Given the description of an element on the screen output the (x, y) to click on. 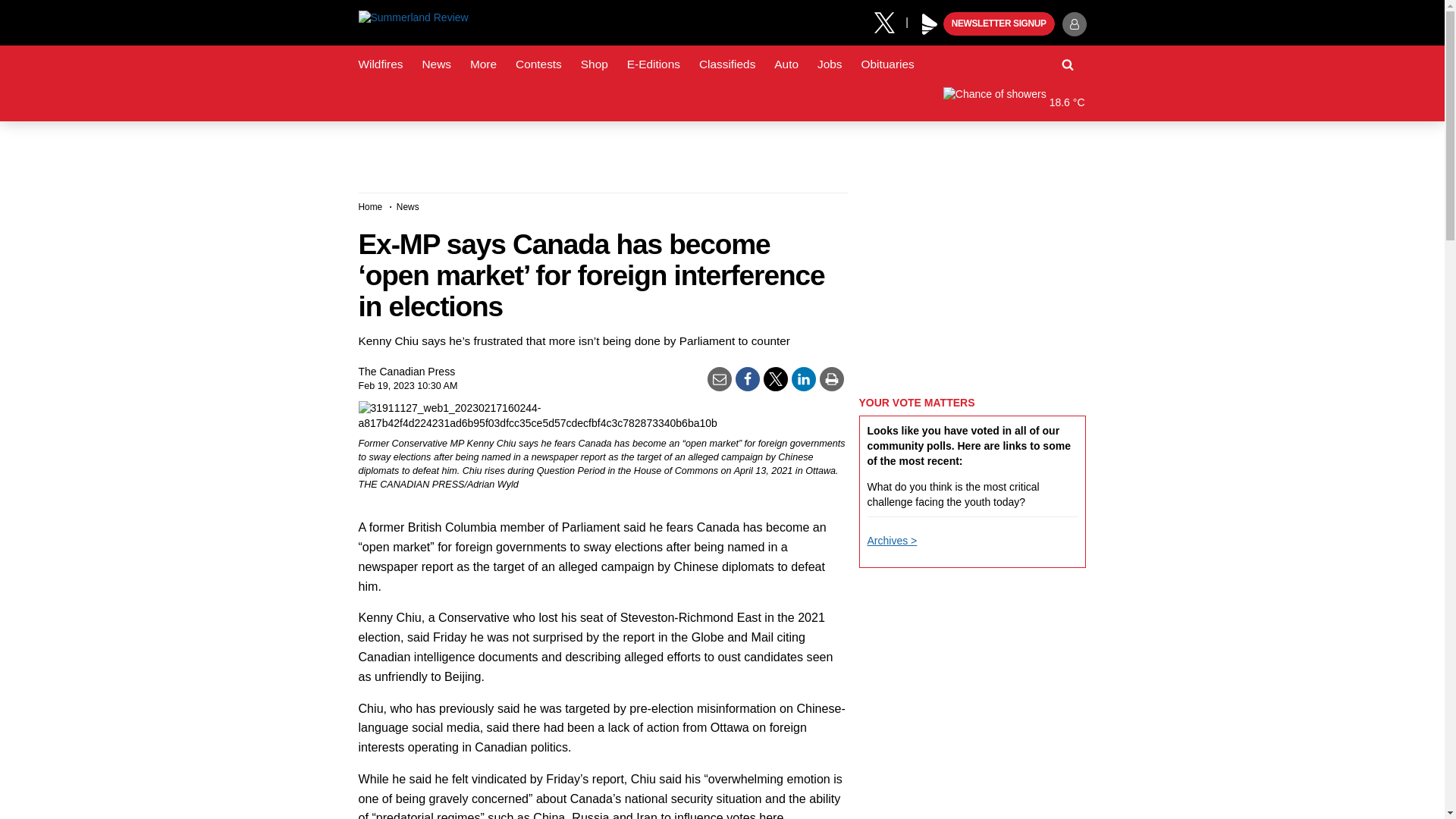
News (435, 64)
Black Press Media (929, 24)
Play (929, 24)
Wildfires (380, 64)
X (889, 21)
NEWSLETTER SIGNUP (998, 24)
